Given the description of an element on the screen output the (x, y) to click on. 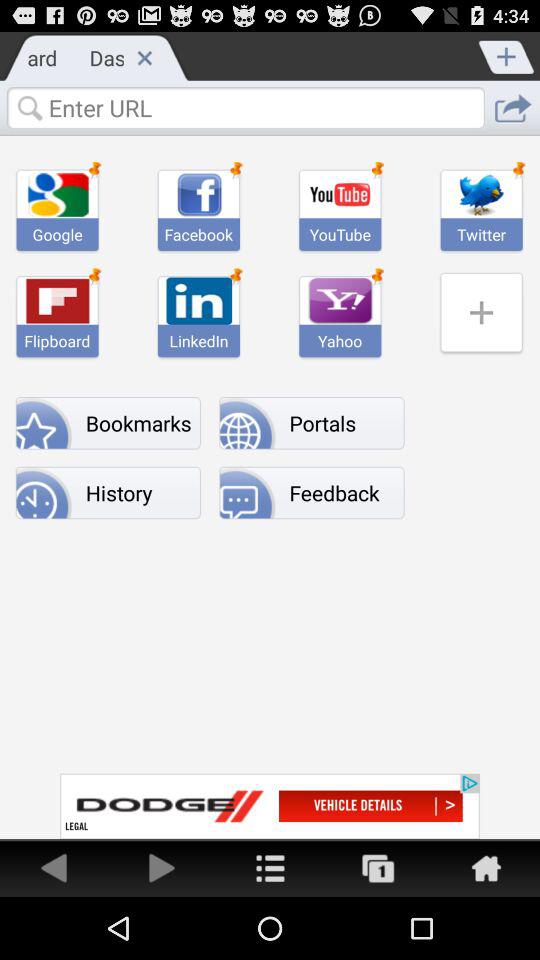
go forward (162, 867)
